Given the description of an element on the screen output the (x, y) to click on. 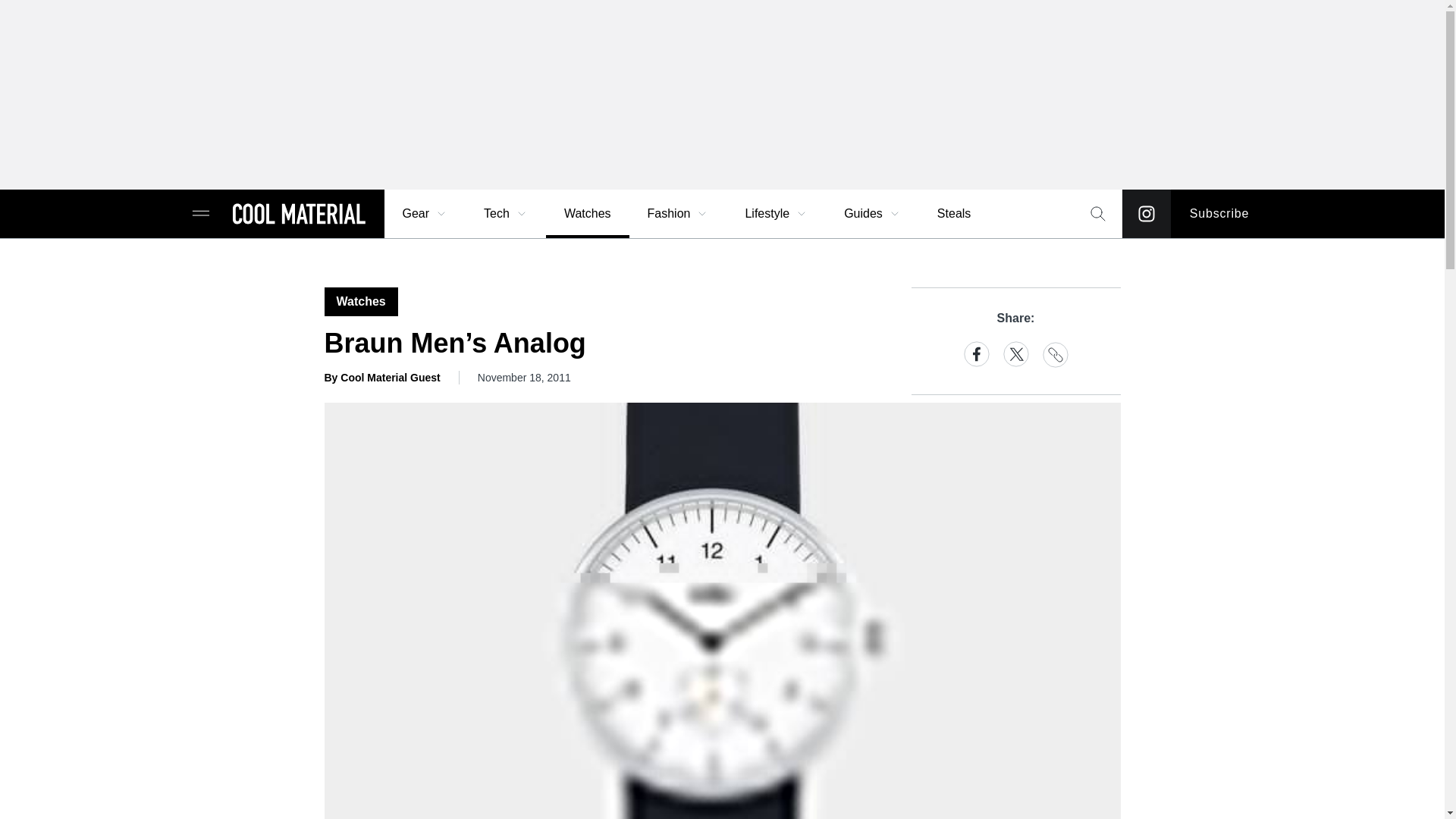
Fashion (677, 213)
Watches (587, 213)
Gear (424, 213)
Lifestyle (775, 213)
Tech (505, 213)
Guides (871, 213)
